Given the description of an element on the screen output the (x, y) to click on. 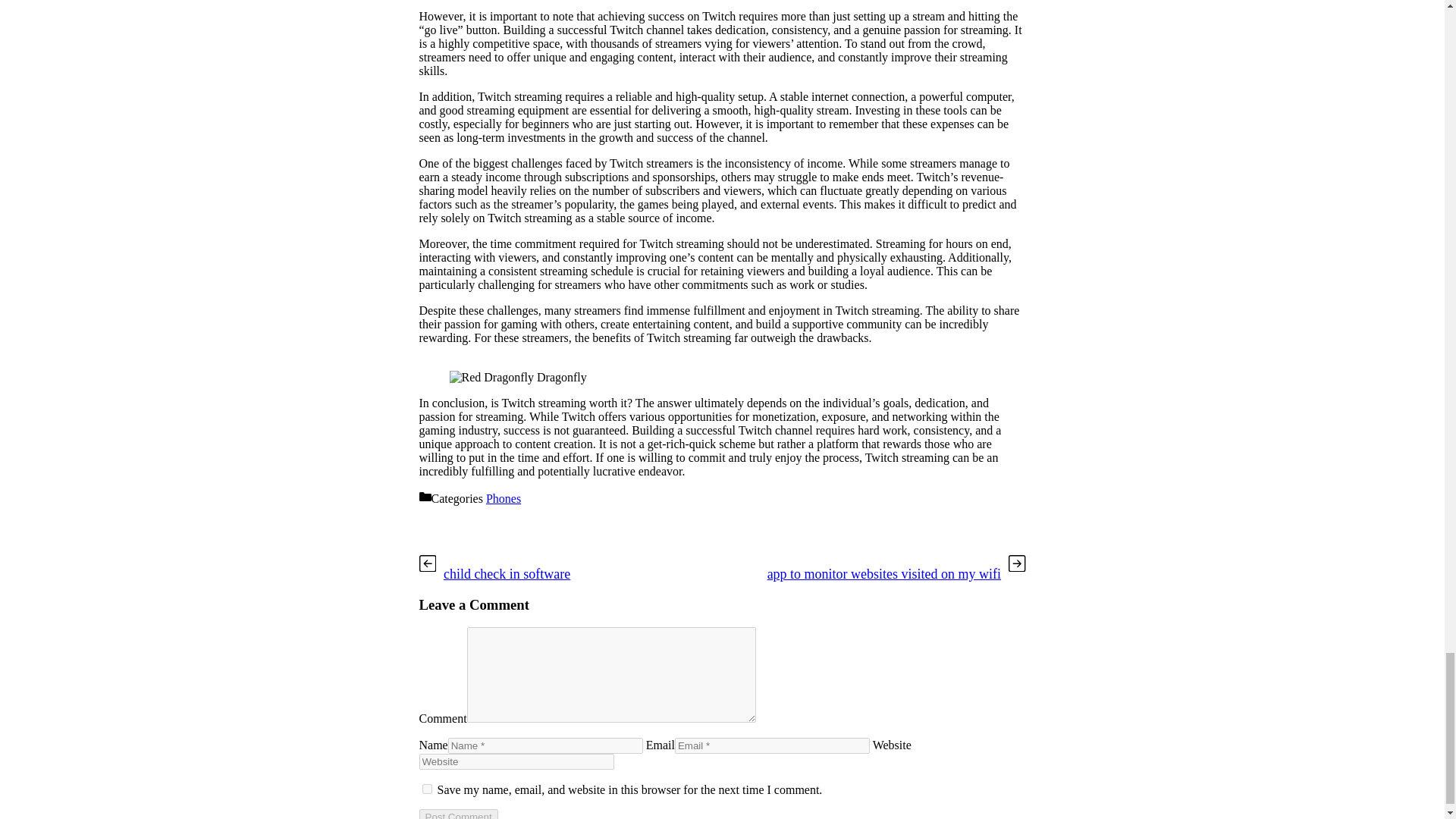
yes (426, 788)
Phones (503, 498)
child check in software (507, 573)
Red Dragonfly Dragonfly (517, 377)
app to monitor websites visited on my wifi (884, 573)
